Given the description of an element on the screen output the (x, y) to click on. 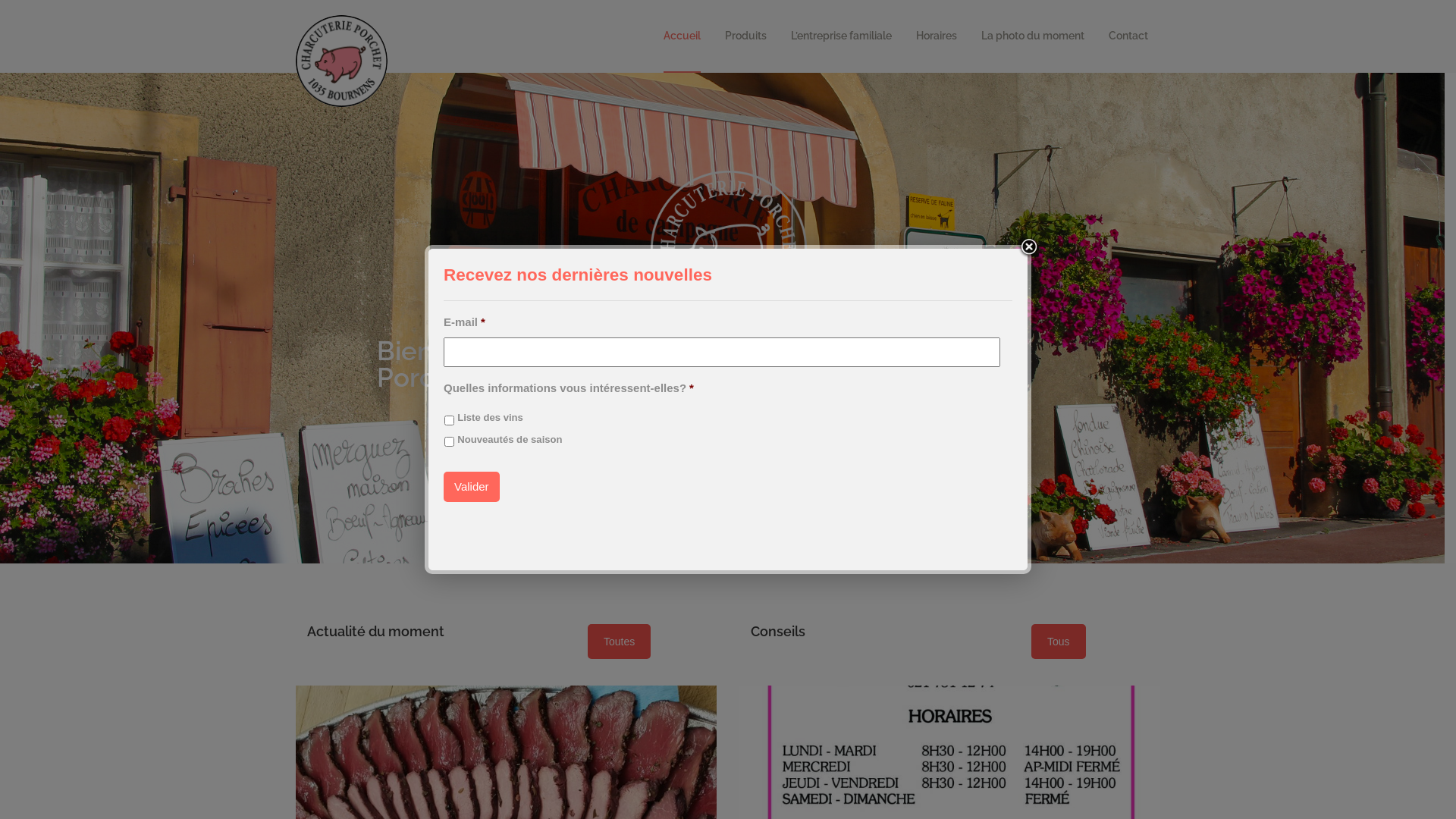
Contact Element type: text (1128, 36)
Produits Element type: text (745, 36)
Valider Element type: text (471, 486)
Accueil Element type: text (681, 36)
La photo du moment Element type: text (1032, 36)
Close this box Element type: hover (1028, 246)
Toutes Element type: text (618, 641)
Horaires Element type: text (936, 36)
Tous Element type: text (1058, 641)
